Given the description of an element on the screen output the (x, y) to click on. 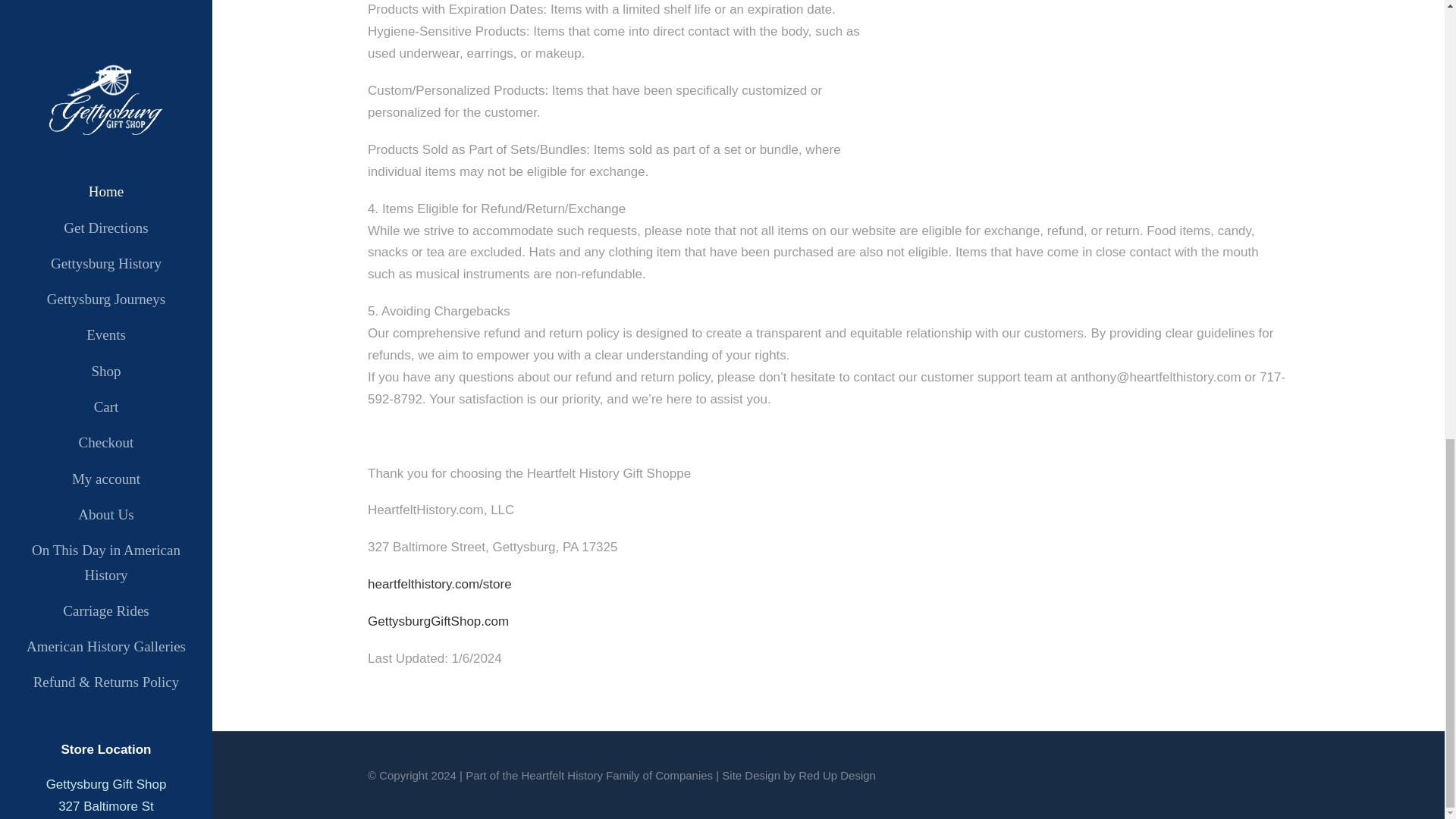
Visit our eBay Store (106, 5)
GettysburgGiftShop.com (438, 621)
